Given the description of an element on the screen output the (x, y) to click on. 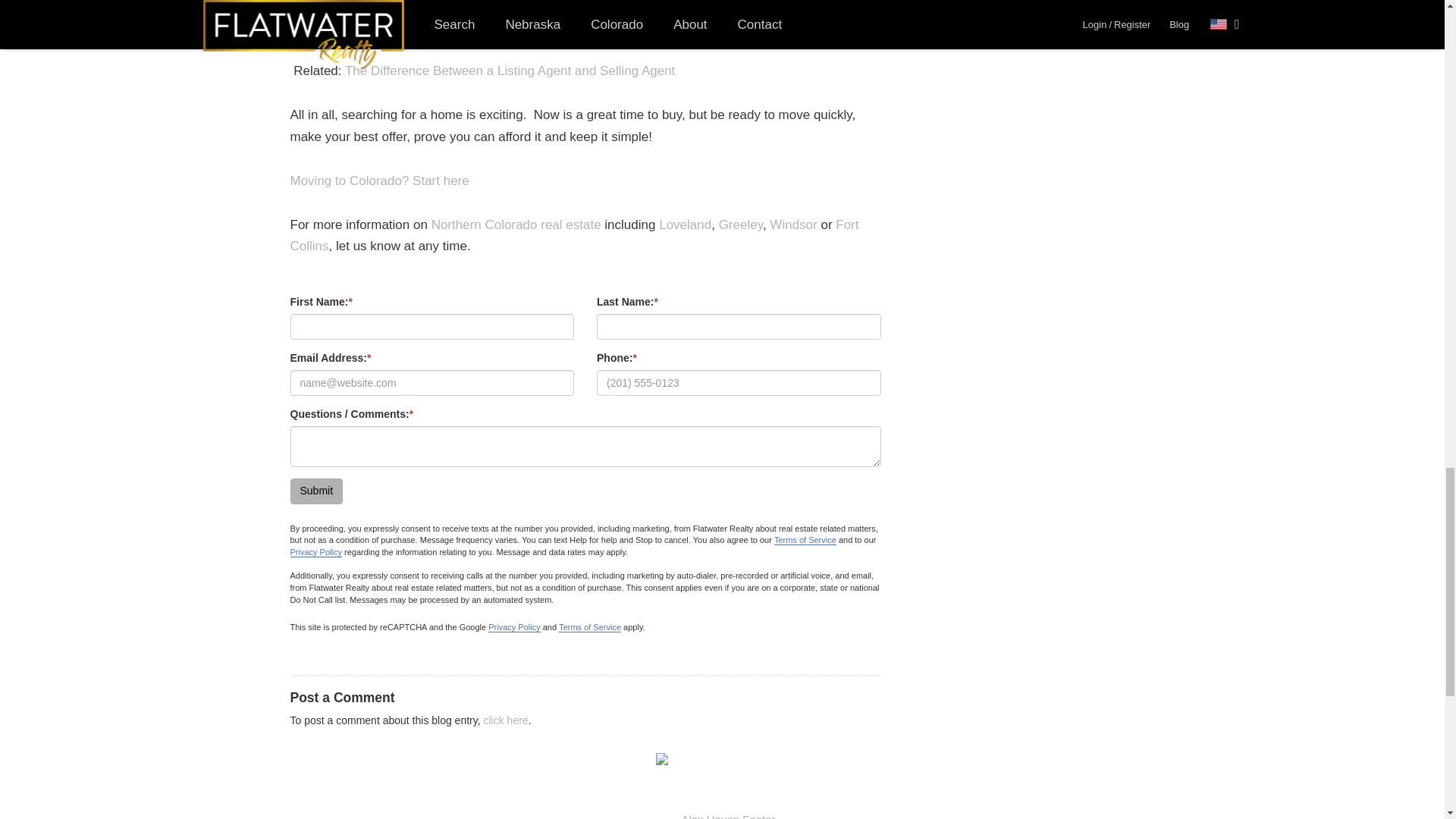
Please enter your question (584, 445)
